Given the description of an element on the screen output the (x, y) to click on. 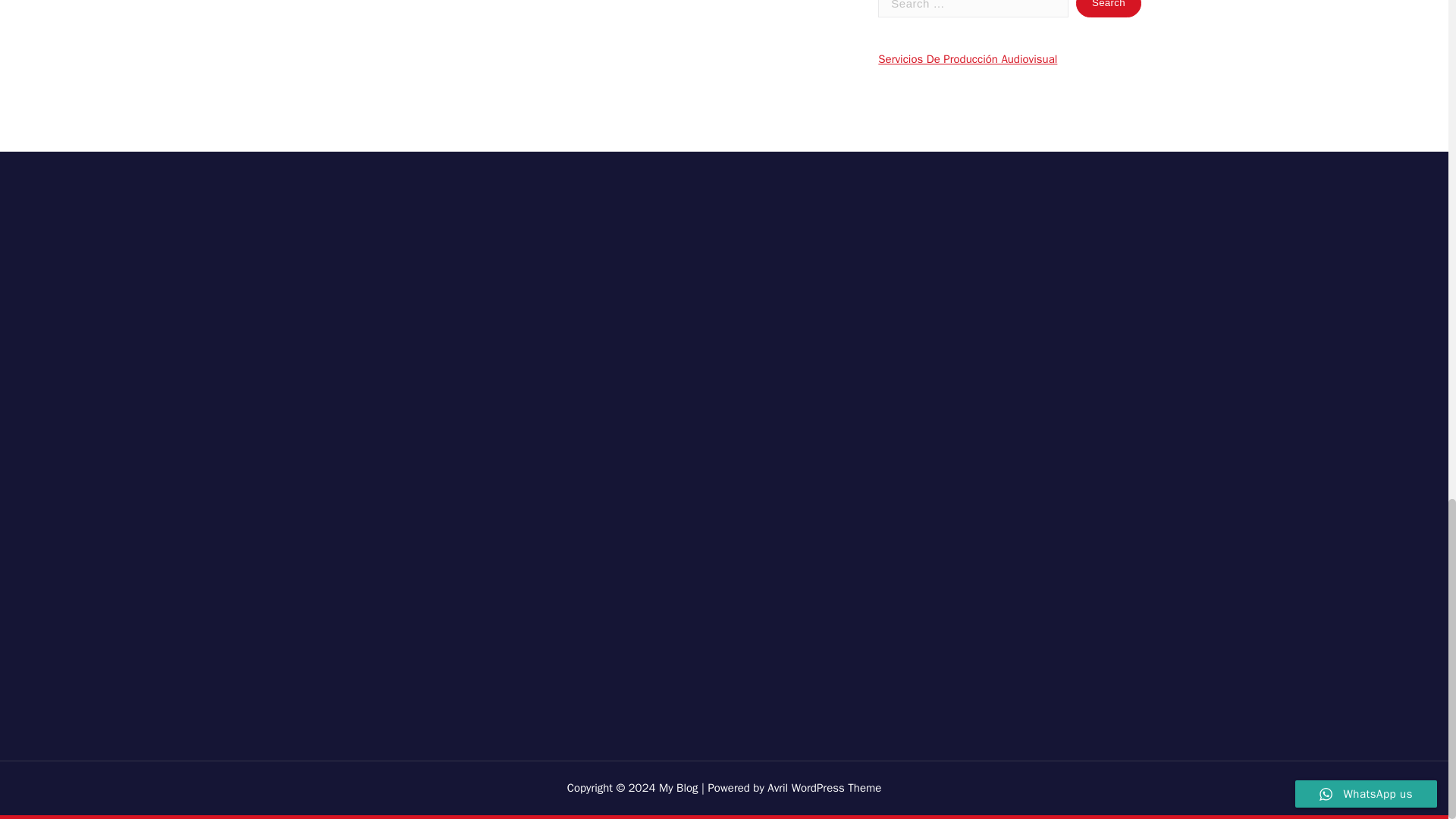
Search (1108, 8)
Search (1108, 8)
